Given the description of an element on the screen output the (x, y) to click on. 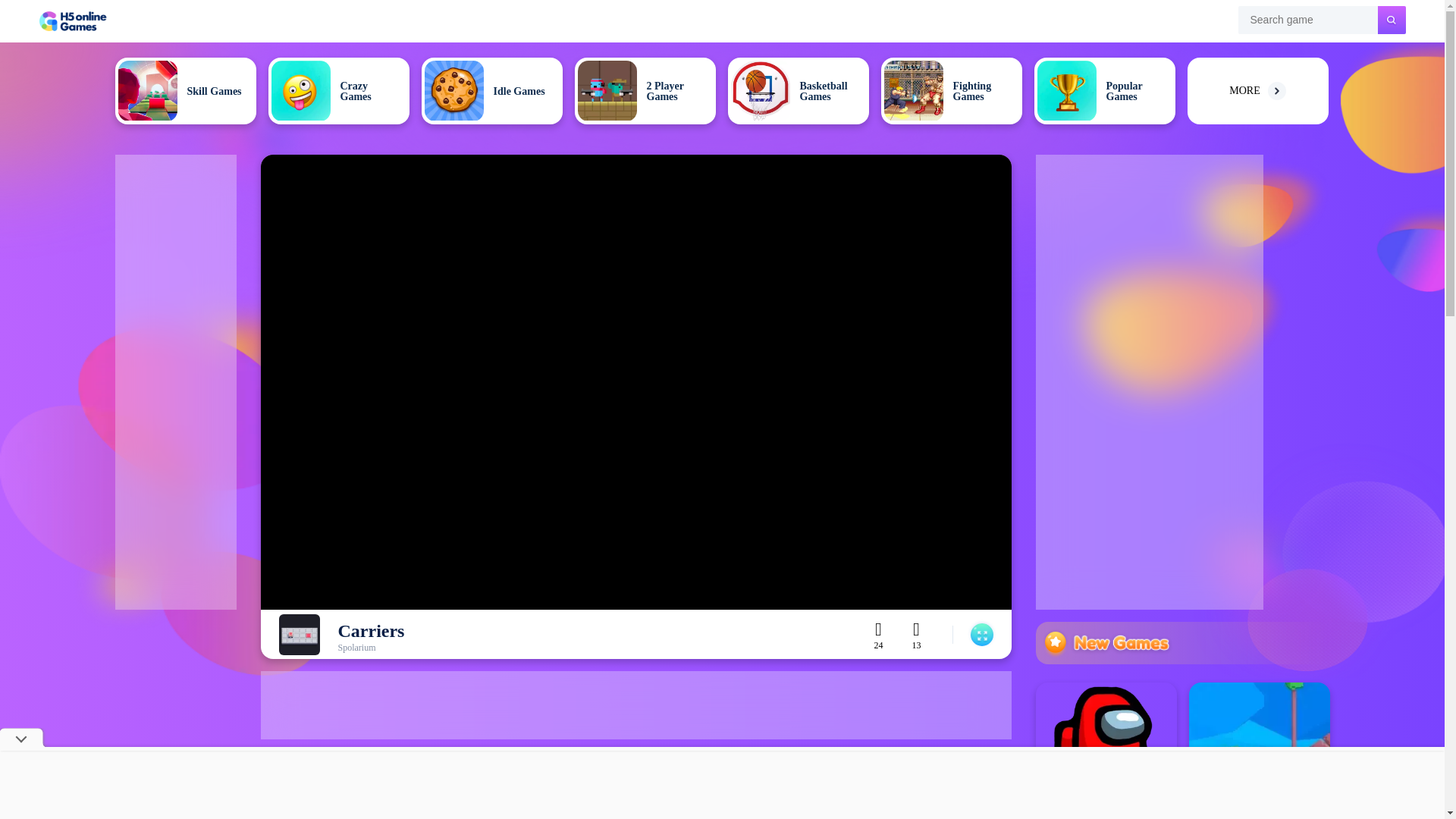
Fighting Games (951, 90)
Skill Games (185, 90)
Idle Games (492, 90)
Popular Games (1103, 90)
Crazy Games (338, 90)
2 Player Games (645, 90)
Basketball Games (798, 90)
3rd party ad content (721, 785)
